Given the description of an element on the screen output the (x, y) to click on. 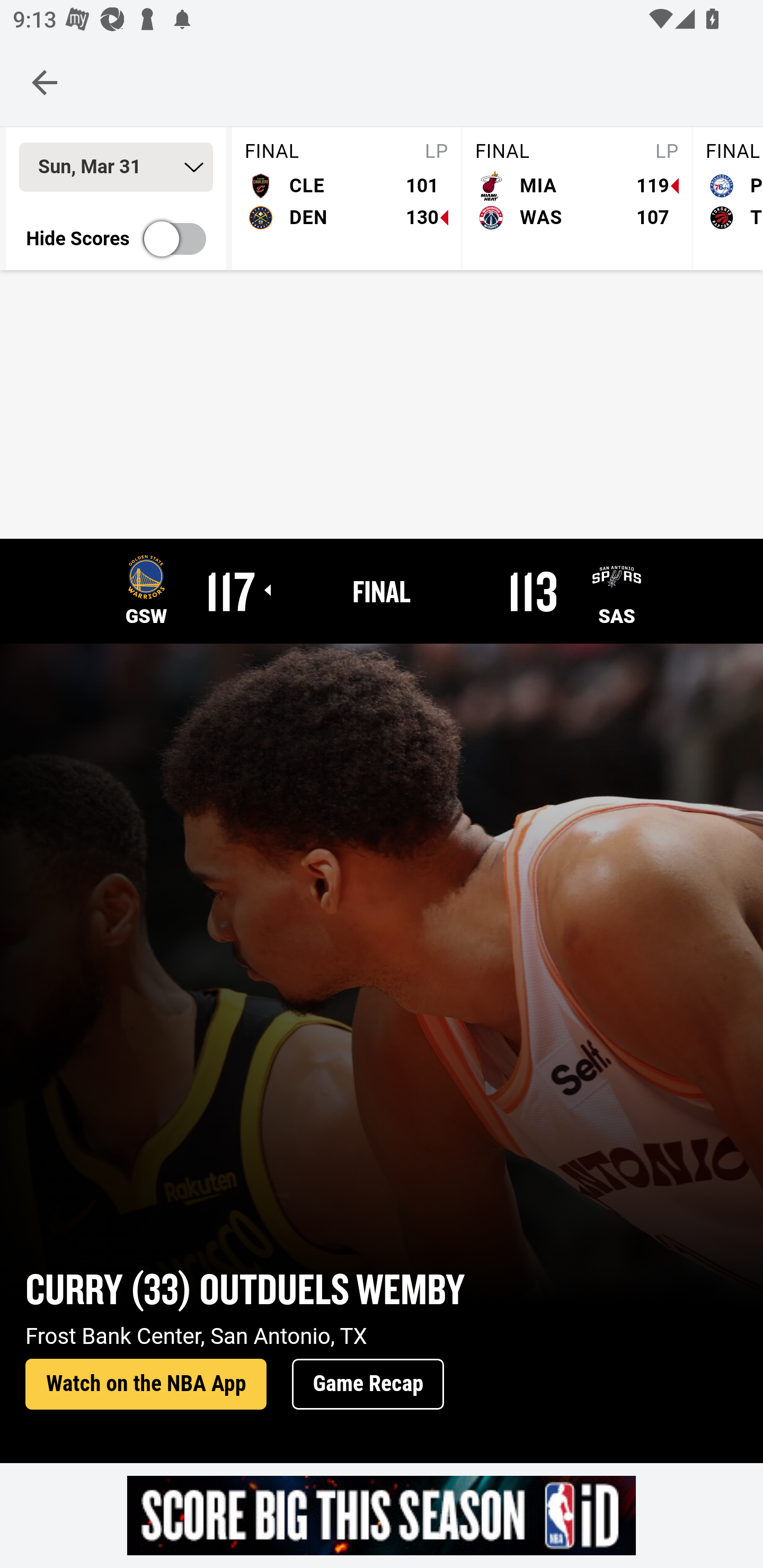
Navigate up (44, 82)
Sun, Mar 31 (115, 166)
Watch on the NBA App (146, 1384)
Game Recap (367, 1384)
g5nqqygr7owph (381, 1515)
